Given the description of an element on the screen output the (x, y) to click on. 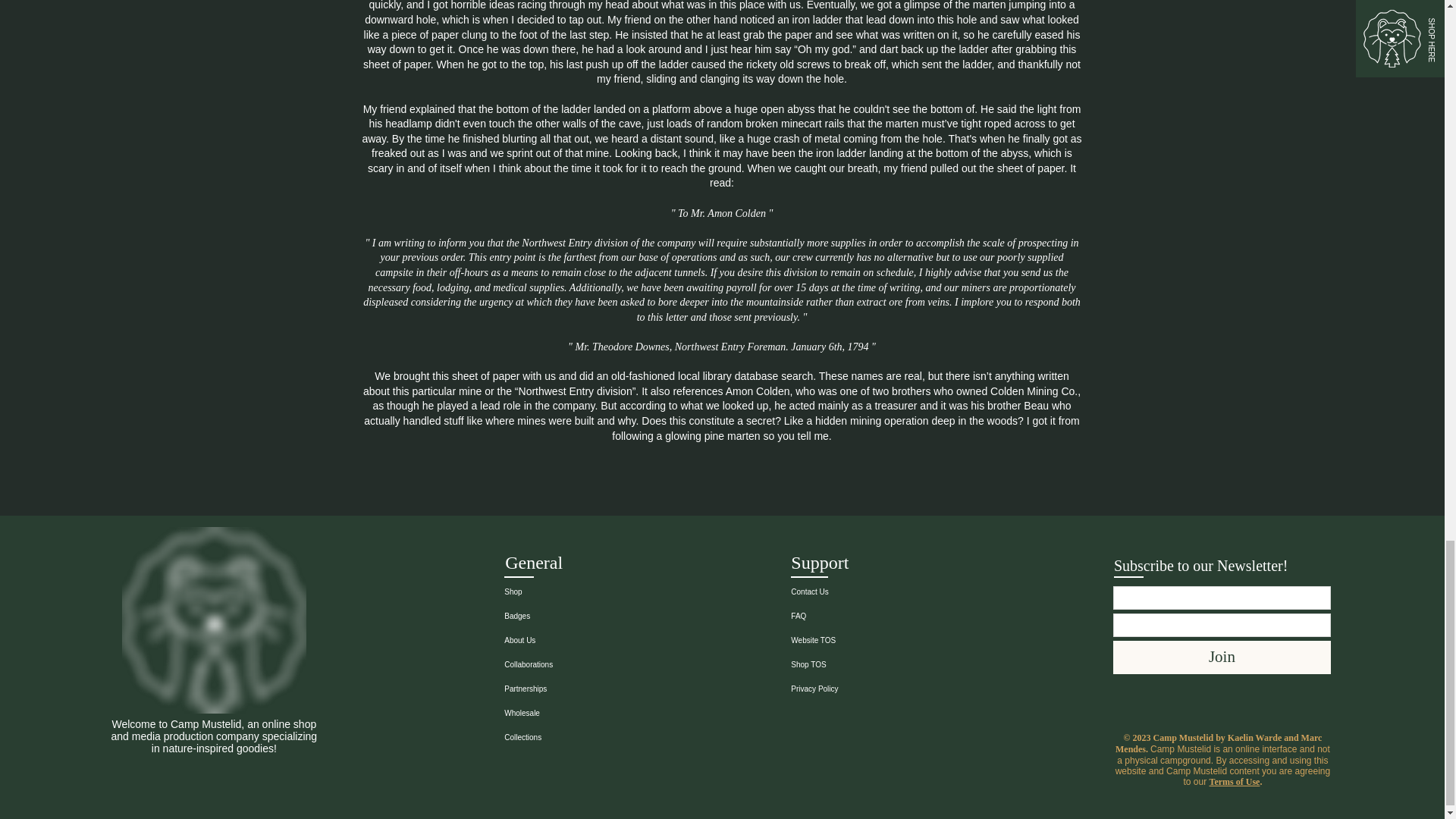
Badges (570, 616)
Collections (570, 737)
FAQ (856, 616)
About Us (570, 640)
Wholesale (570, 713)
Partnerships (570, 689)
Collaborations (570, 664)
Shop (570, 591)
Contact Us (856, 591)
